Given the description of an element on the screen output the (x, y) to click on. 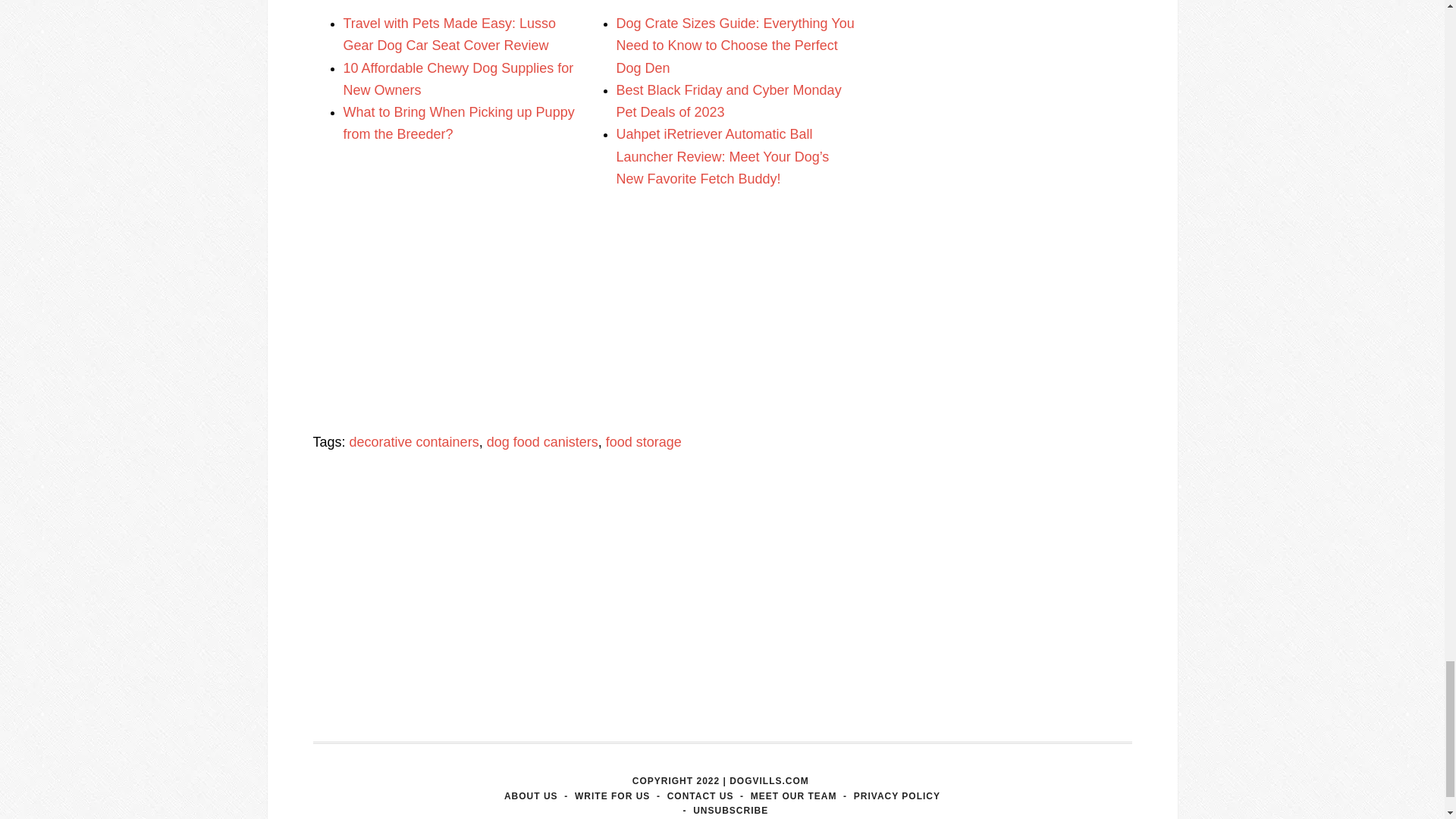
food storage (643, 441)
decorative containers (414, 441)
Best Black Friday and Cyber Monday Pet Deals of 2023 (728, 100)
What to Bring When Picking up Puppy from the Breeder? (457, 122)
10 Affordable Chewy Dog Supplies for New Owners (457, 78)
dog food canisters (542, 441)
